Given the description of an element on the screen output the (x, y) to click on. 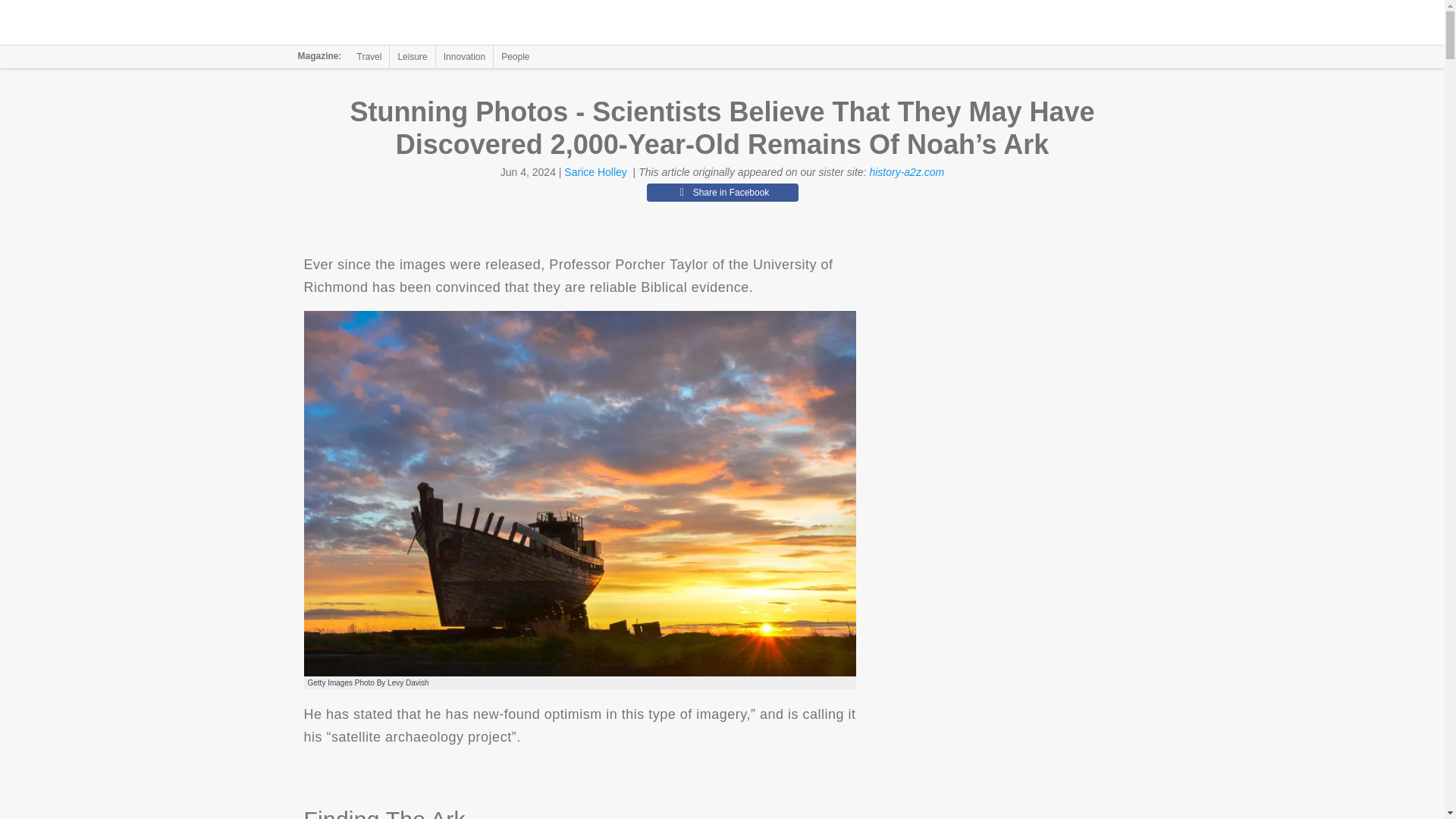
The Jerusalem Post Magazine (391, 22)
Share in Facebook (721, 192)
Travel (369, 56)
Sarice Holley (595, 172)
history-a2z.com (906, 172)
People (515, 56)
Leisure (411, 56)
Innovation (464, 56)
